Given the description of an element on the screen output the (x, y) to click on. 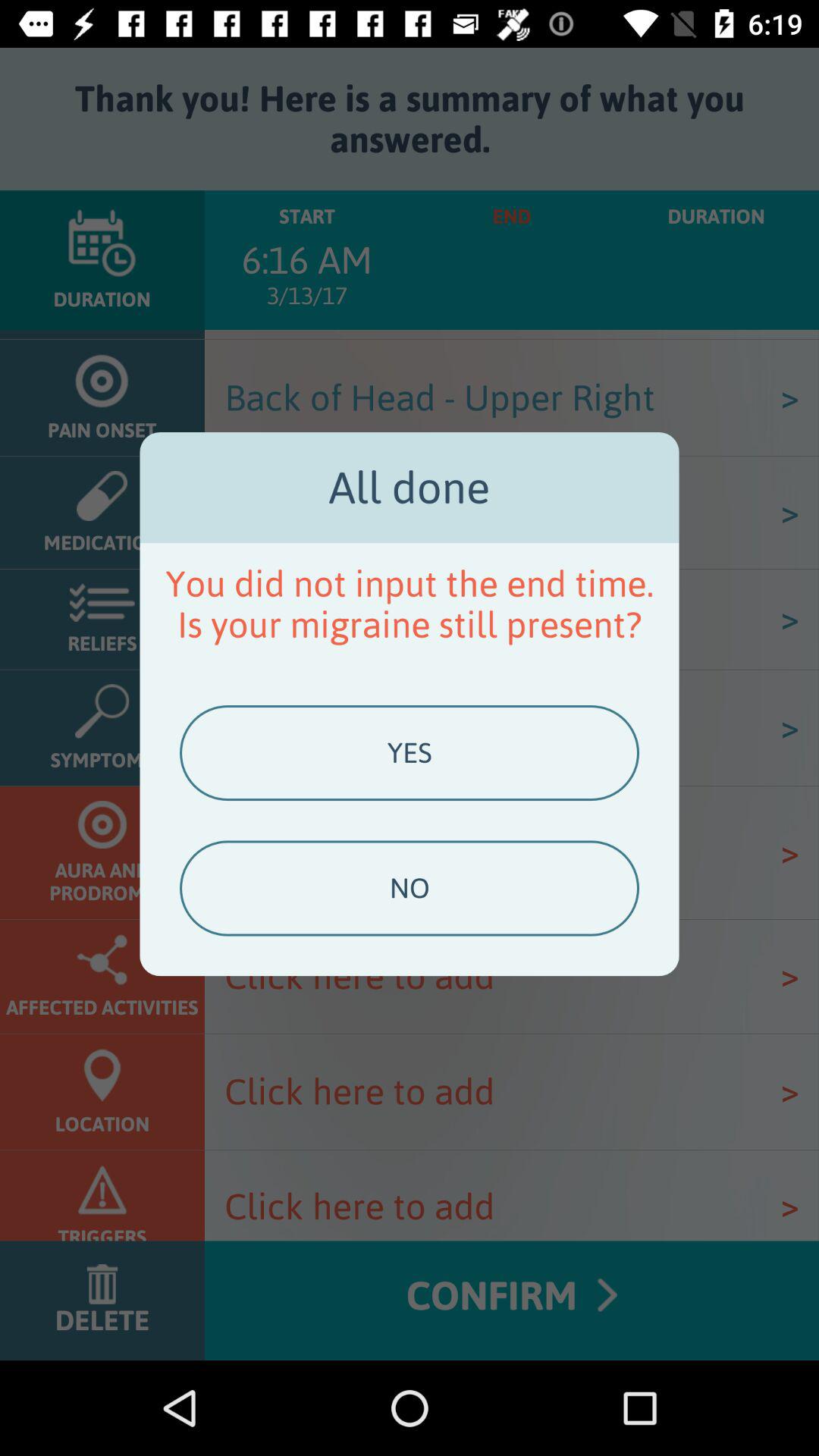
swipe to yes (409, 752)
